Given the description of an element on the screen output the (x, y) to click on. 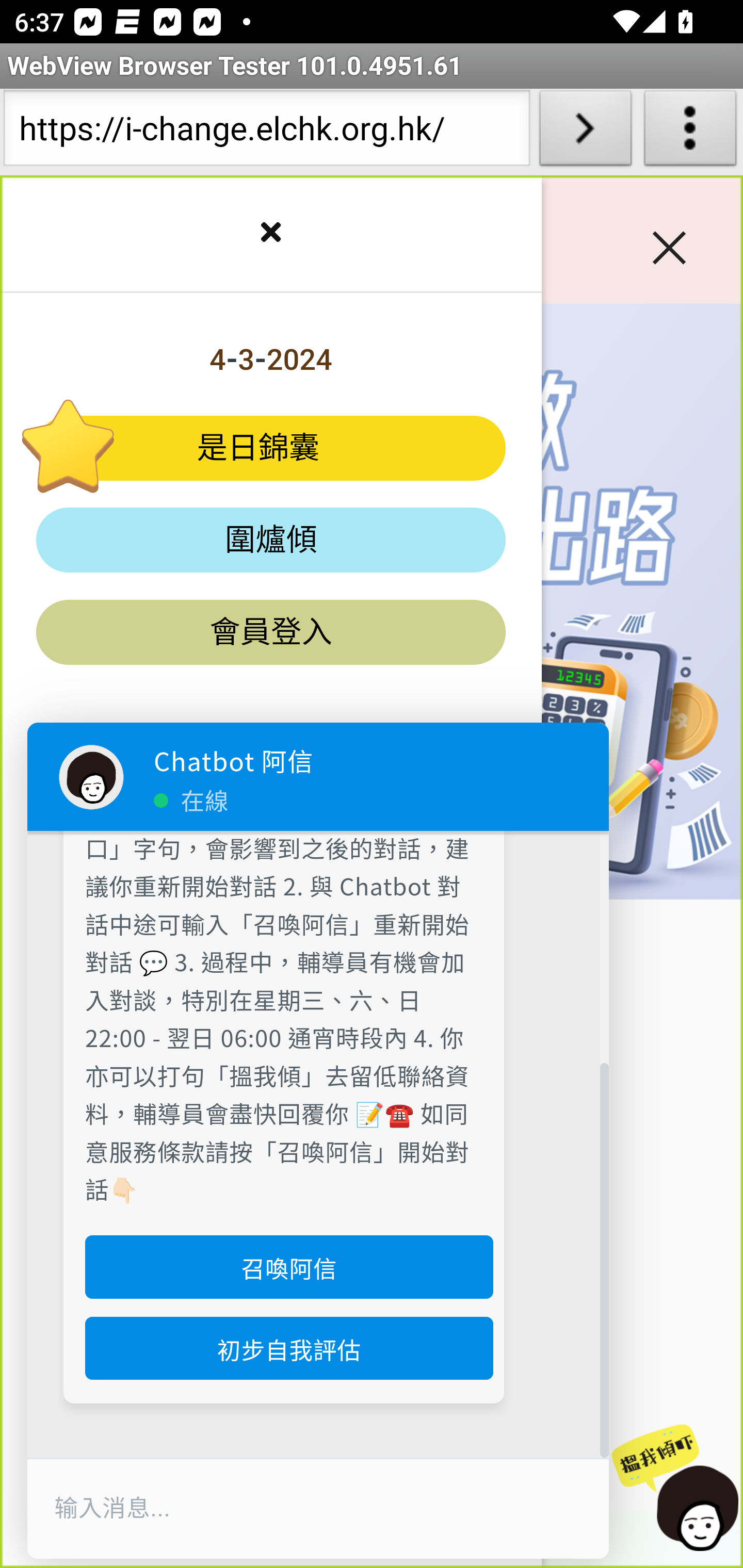
https://i-change.elchk.org.hk/ (266, 132)
Load URL (585, 132)
About WebView (690, 132)
 (270, 234)
是日錦囊 (270, 447)
圍爐傾 (270, 540)
會員登入 (270, 631)
Chat Now (670, 1488)
